Given the description of an element on the screen output the (x, y) to click on. 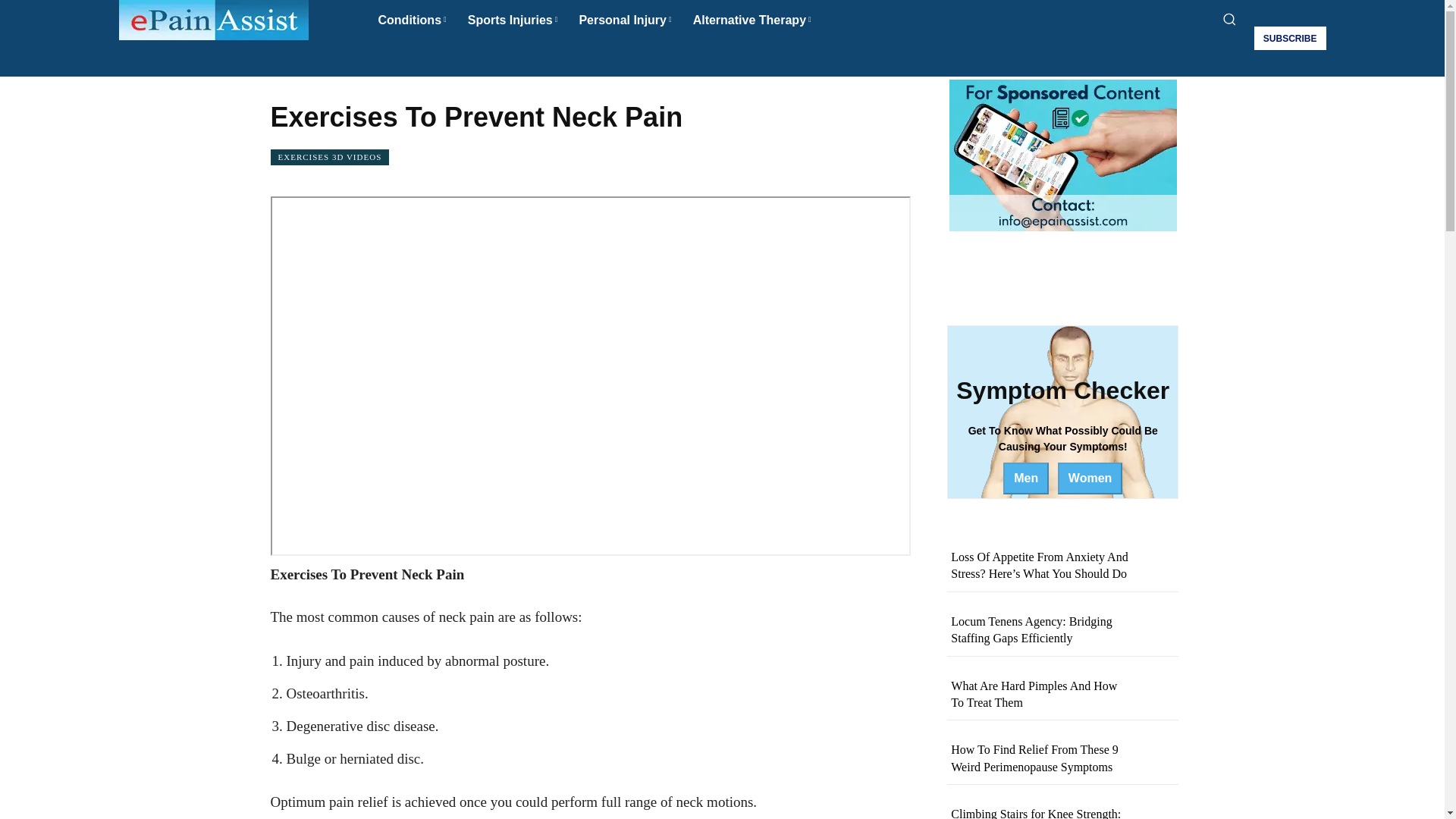
Search (722, 55)
Sponsored Content Advertisement (1062, 154)
View all posts in Exercises 3D Videos (417, 53)
How To Find Relief From These 9 Weird Perimenopause Symptoms (1034, 757)
View all posts in Medical Videos (335, 53)
Locum Tenens Agency: Bridging Staffing Gaps Efficiently (1031, 629)
What Are Hard Pimples And How To Treat Them (1033, 694)
